Given the description of an element on the screen output the (x, y) to click on. 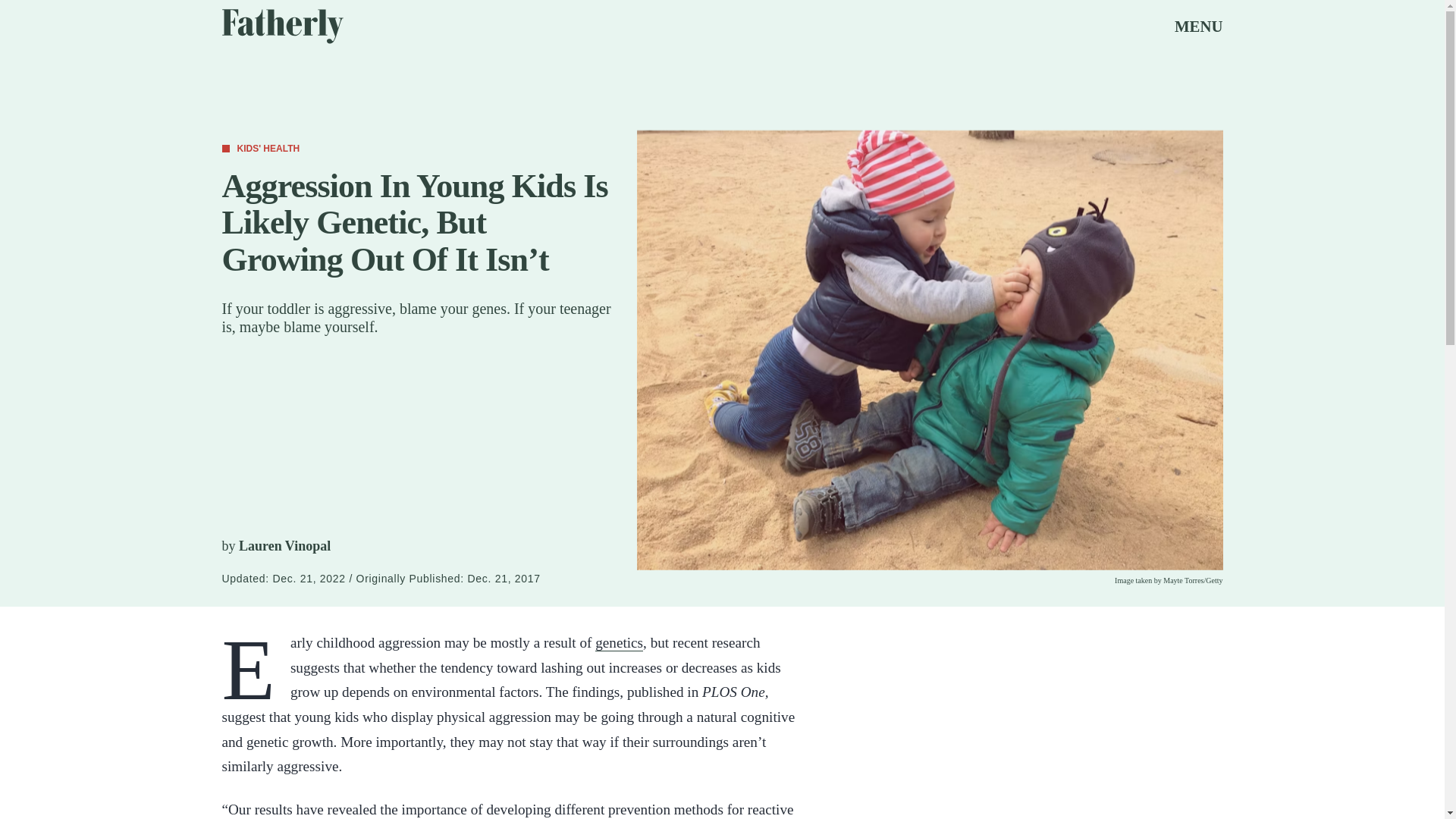
Lauren Vinopal (284, 545)
Fatherly (281, 26)
genetics (619, 642)
